Given the description of an element on the screen output the (x, y) to click on. 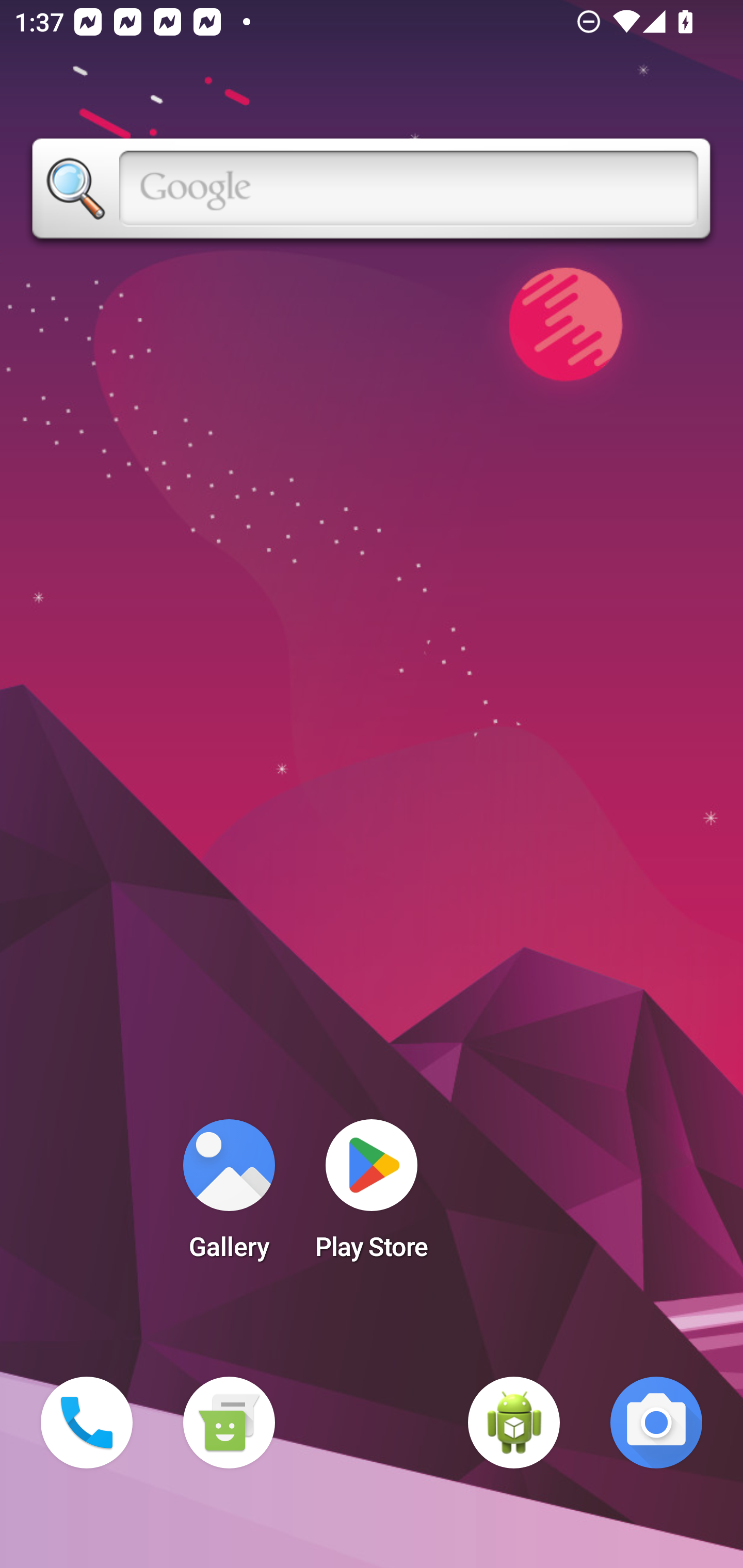
Gallery (228, 1195)
Play Store (371, 1195)
Phone (86, 1422)
Messaging (228, 1422)
WebView Browser Tester (513, 1422)
Camera (656, 1422)
